Given the description of an element on the screen output the (x, y) to click on. 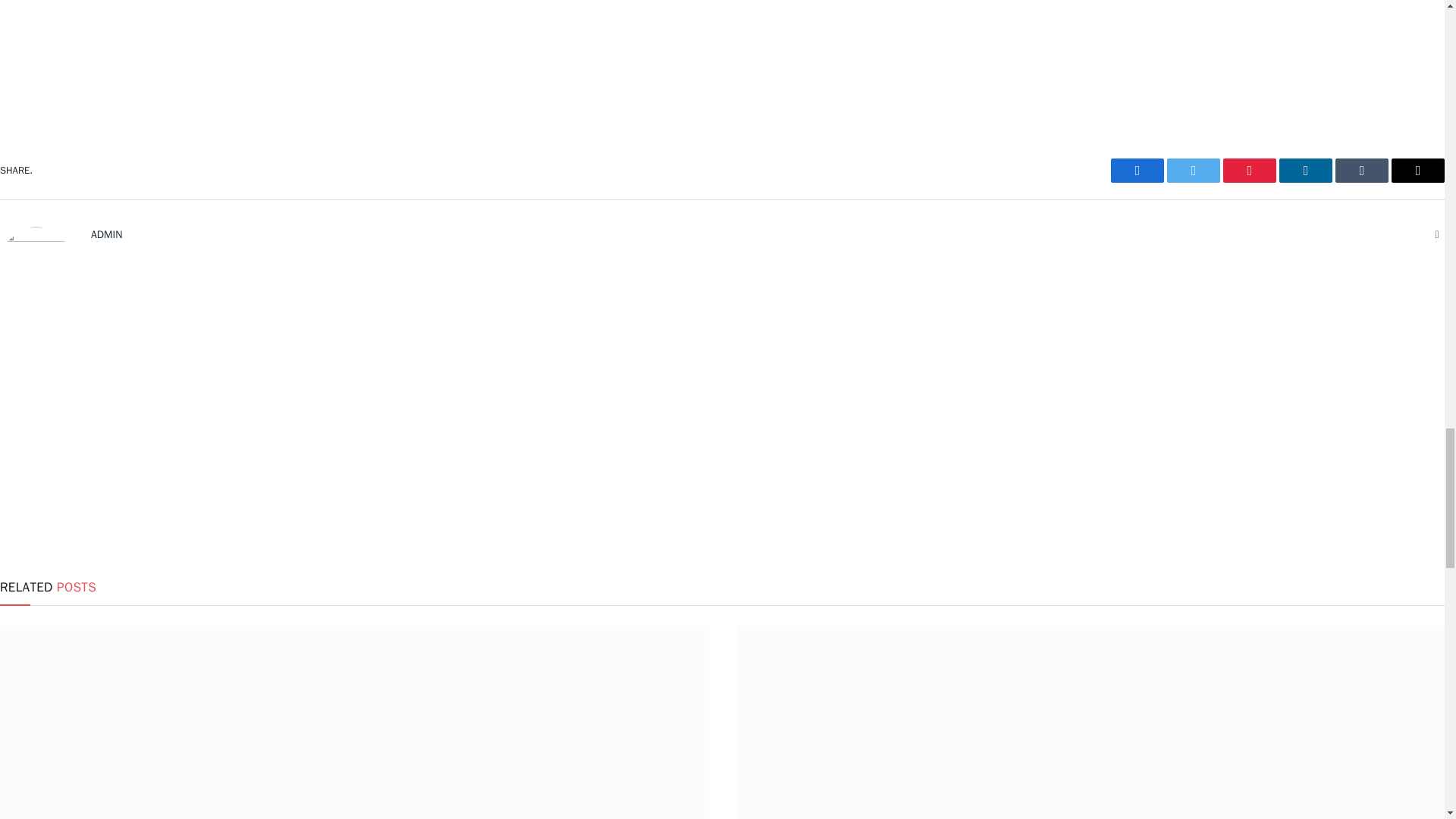
Tumblr (1362, 170)
Pinterest (1249, 170)
Share on Facebook (1136, 170)
Facebook (1136, 170)
Advertisement (722, 36)
Twitter (1193, 170)
ADMIN (106, 234)
LinkedIn (1305, 170)
